Given the description of an element on the screen output the (x, y) to click on. 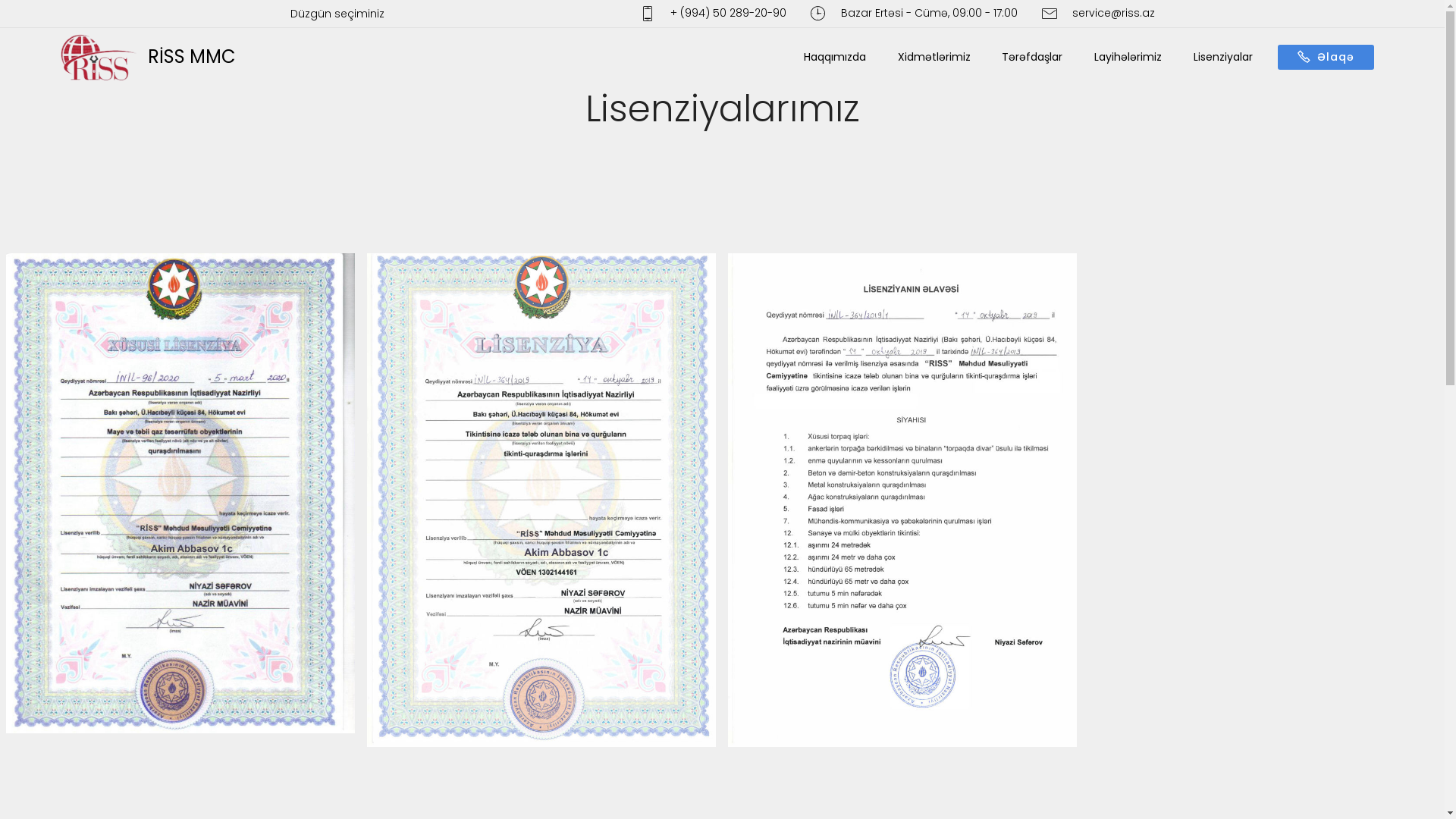
Lisenziyalar Element type: text (1222, 57)
service@riss.az Element type: text (1097, 13)
+ (994) 50 289-20-90 Element type: text (713, 13)
